Given the description of an element on the screen output the (x, y) to click on. 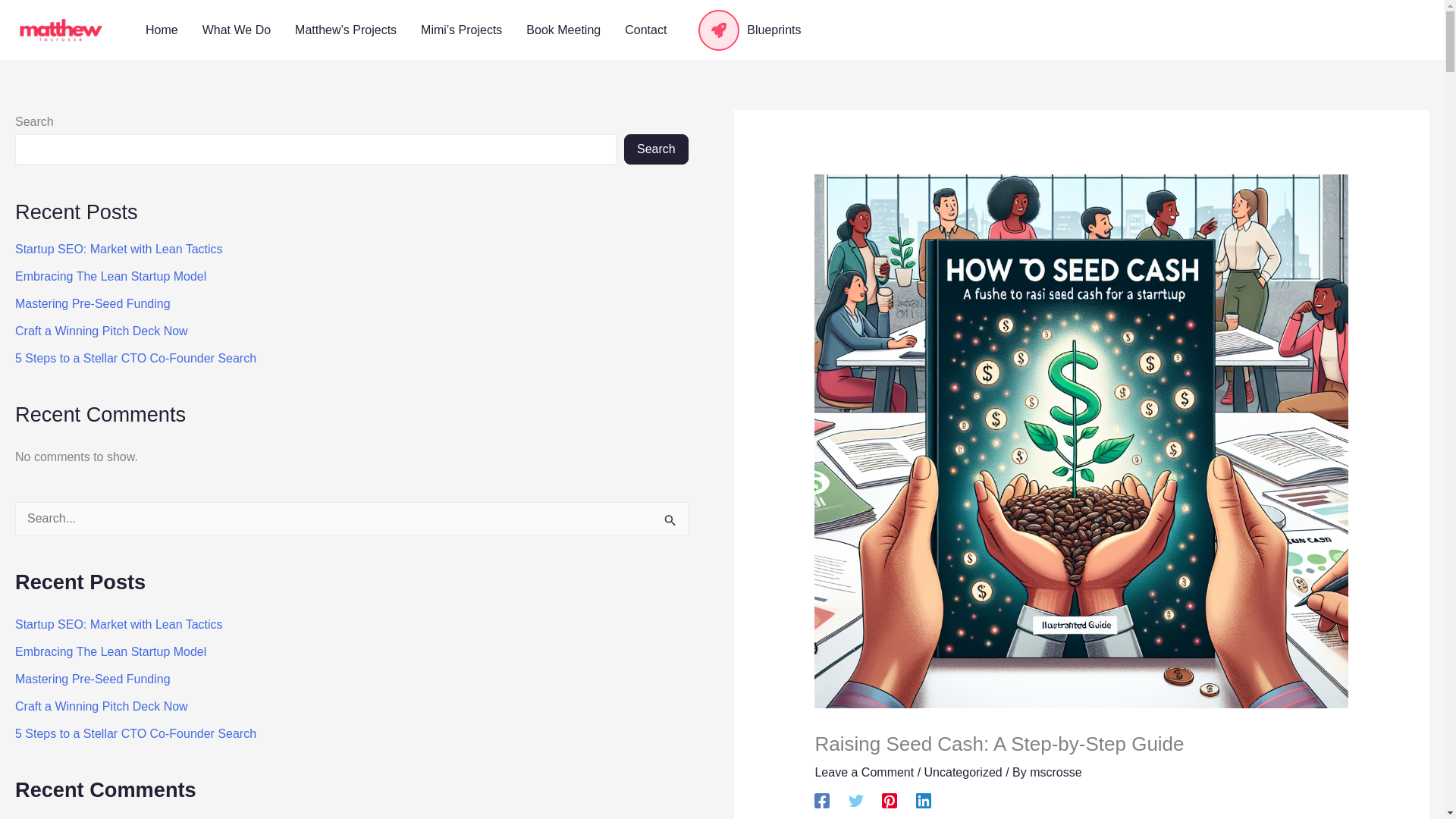
Search (656, 149)
mscrosse (1055, 771)
What We Do (236, 30)
5 Steps to a Stellar CTO Co-Founder Search (135, 733)
Startup SEO: Market with Lean Tactics (118, 624)
5 Steps to a Stellar CTO Co-Founder Search (135, 358)
Mastering Pre-Seed Funding (92, 303)
Contact (645, 30)
Blueprints (745, 30)
View all posts by mscrosse (1055, 771)
